Given the description of an element on the screen output the (x, y) to click on. 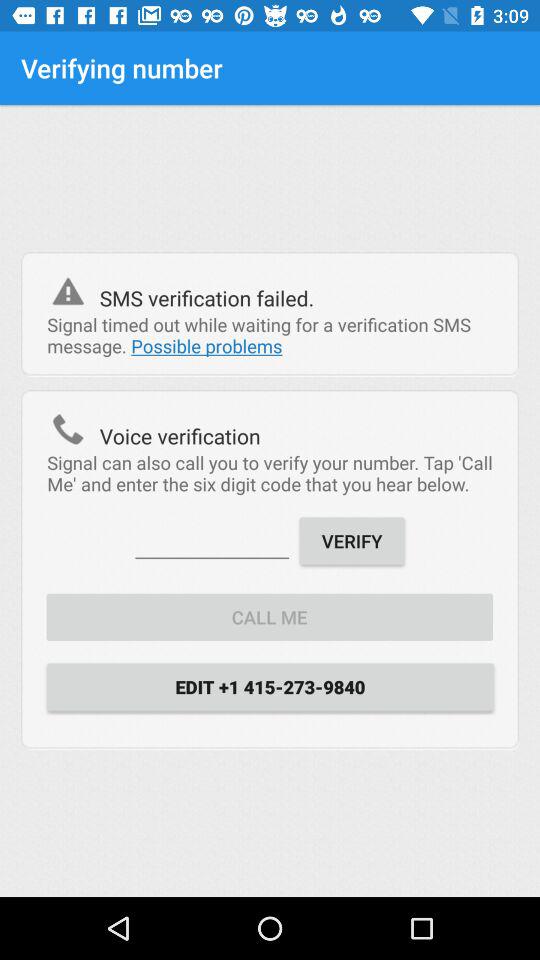
turn on item next to the verify item (212, 539)
